Given the description of an element on the screen output the (x, y) to click on. 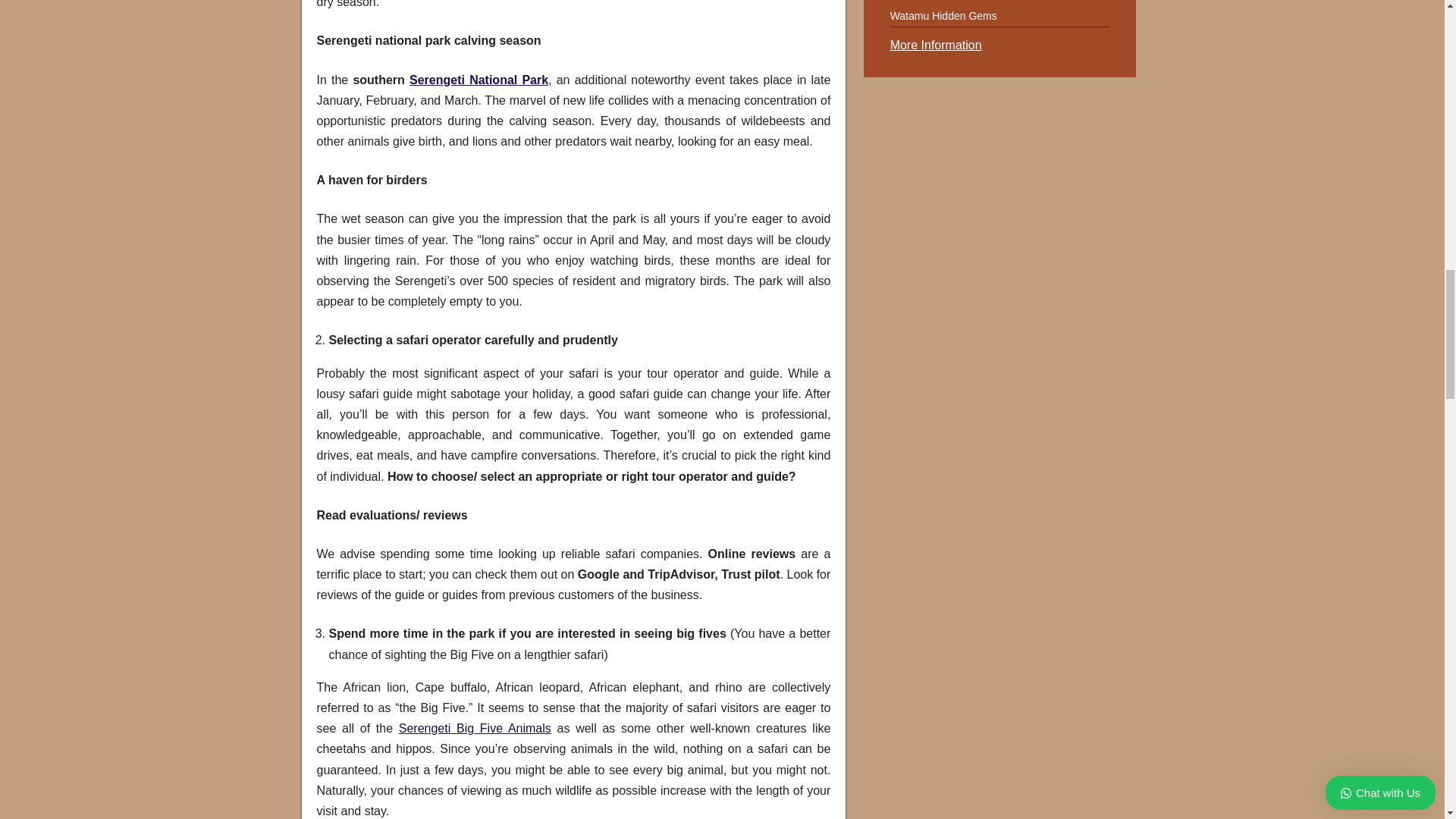
Serengeti Big Five Animals (474, 727)
Serengeti National Park (478, 78)
